Given the description of an element on the screen output the (x, y) to click on. 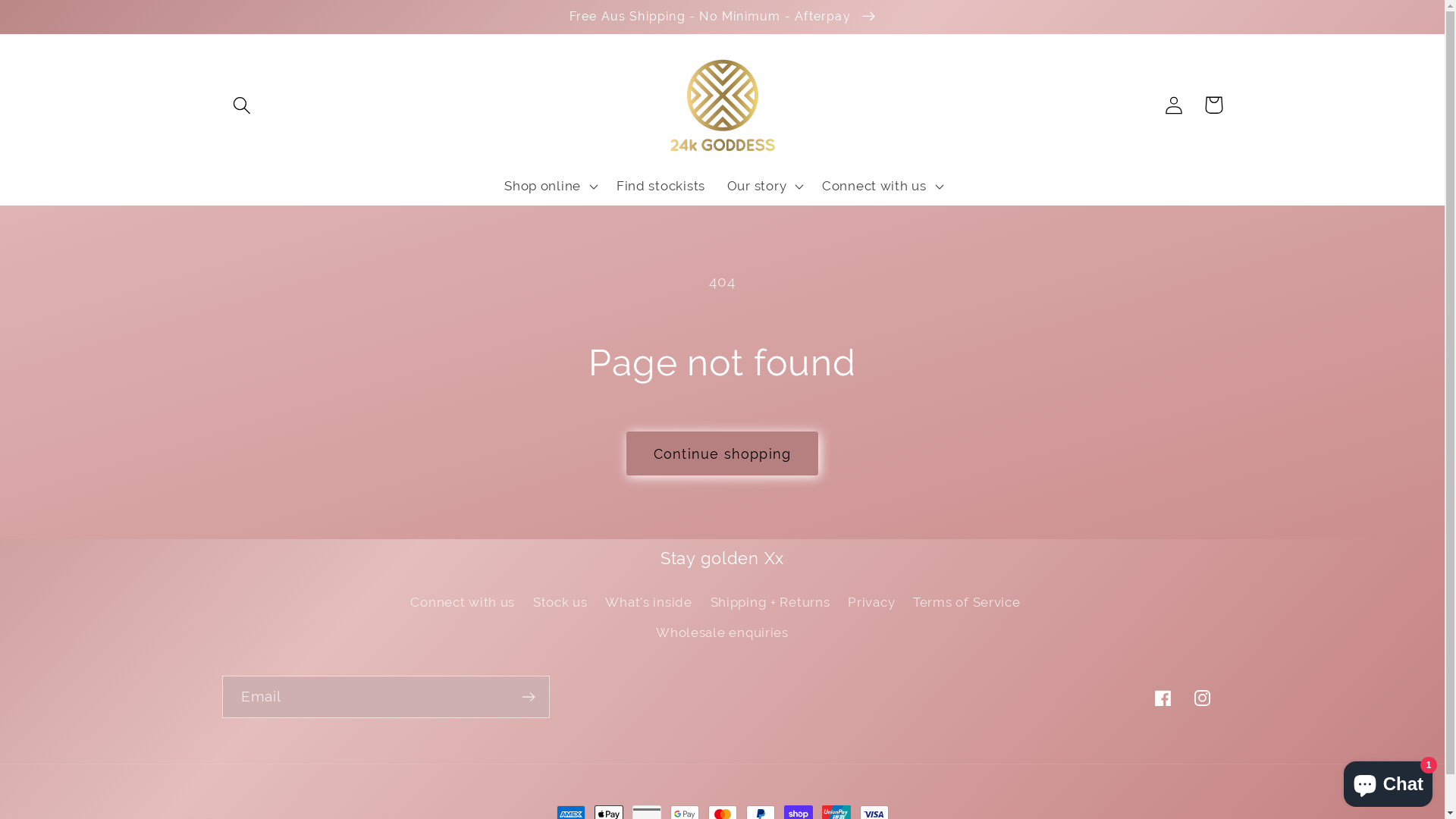
Privacy Element type: text (870, 602)
Connect with us Element type: text (462, 605)
Find stockists Element type: text (660, 186)
Continue shopping Element type: text (722, 453)
Instagram Element type: text (1203, 697)
Shipping + Returns Element type: text (770, 602)
Wholesale enquiries Element type: text (721, 633)
Log in Element type: text (1173, 104)
Free Aus Shipping - No Minimum - Afterpay Element type: text (722, 16)
Facebook Element type: text (1162, 697)
Shopify online store chat Element type: hover (1388, 780)
Stock us Element type: text (560, 602)
Cart Element type: text (1213, 104)
Terms of Service Element type: text (966, 602)
What's inside Element type: text (648, 602)
